Given the description of an element on the screen output the (x, y) to click on. 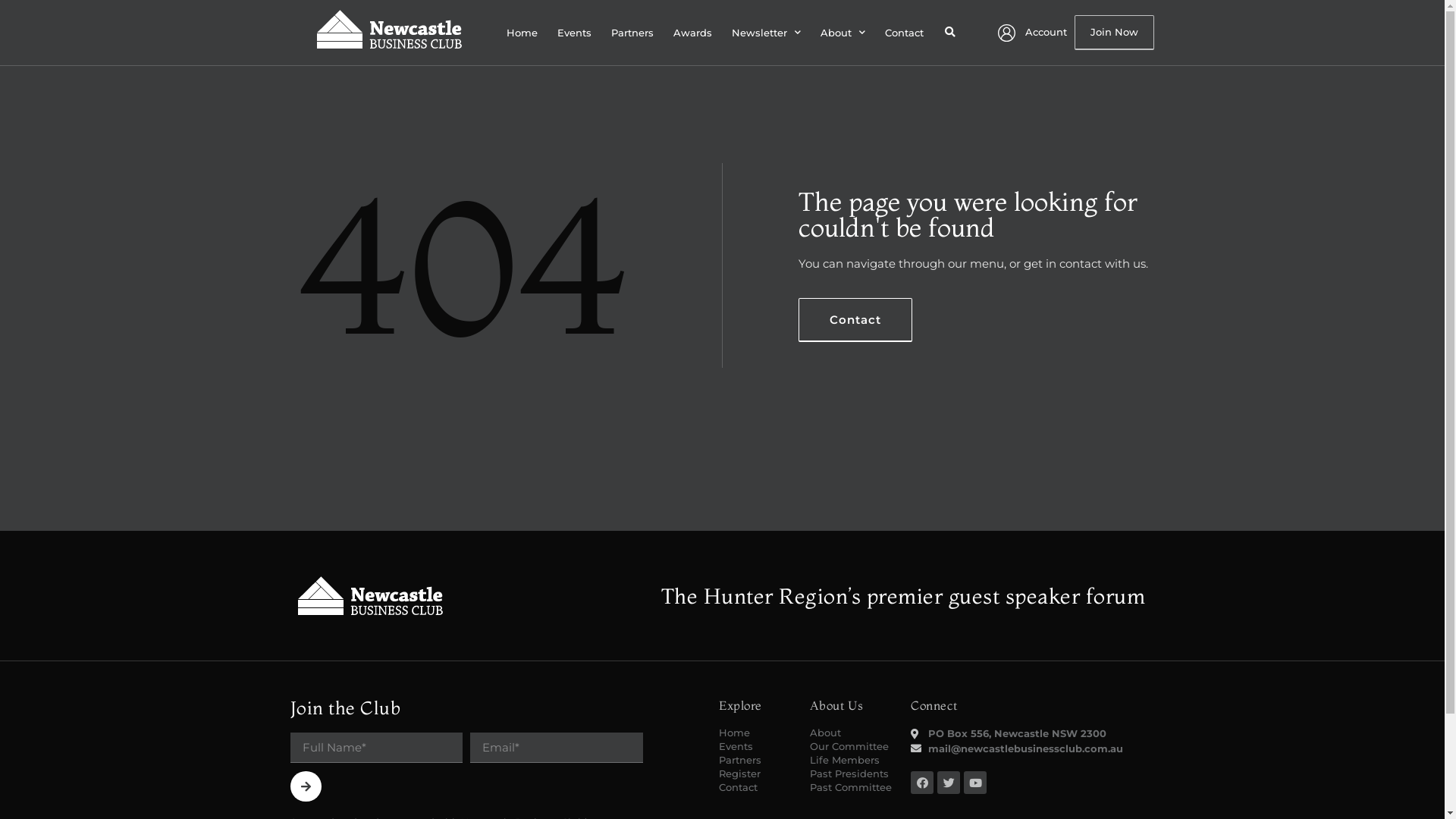
Life Members Element type: text (852, 759)
Partners Element type: text (756, 759)
Contact Element type: text (756, 787)
Contact Element type: text (854, 320)
Events Element type: text (574, 32)
Our Committee Element type: text (852, 746)
Join Now Element type: text (1114, 32)
About Element type: text (842, 32)
Partners Element type: text (632, 32)
Past Presidents Element type: text (852, 773)
Account Element type: text (1032, 32)
Past Committee Element type: text (852, 787)
Home Element type: text (521, 32)
Awards Element type: text (692, 32)
Register Element type: text (756, 773)
About Element type: text (852, 732)
mail@newcastlebusinessclub.com.au Element type: text (1031, 748)
Newsletter Element type: text (765, 32)
Events Element type: text (756, 746)
Contact Element type: text (904, 32)
Home Element type: text (756, 732)
